Given the description of an element on the screen output the (x, y) to click on. 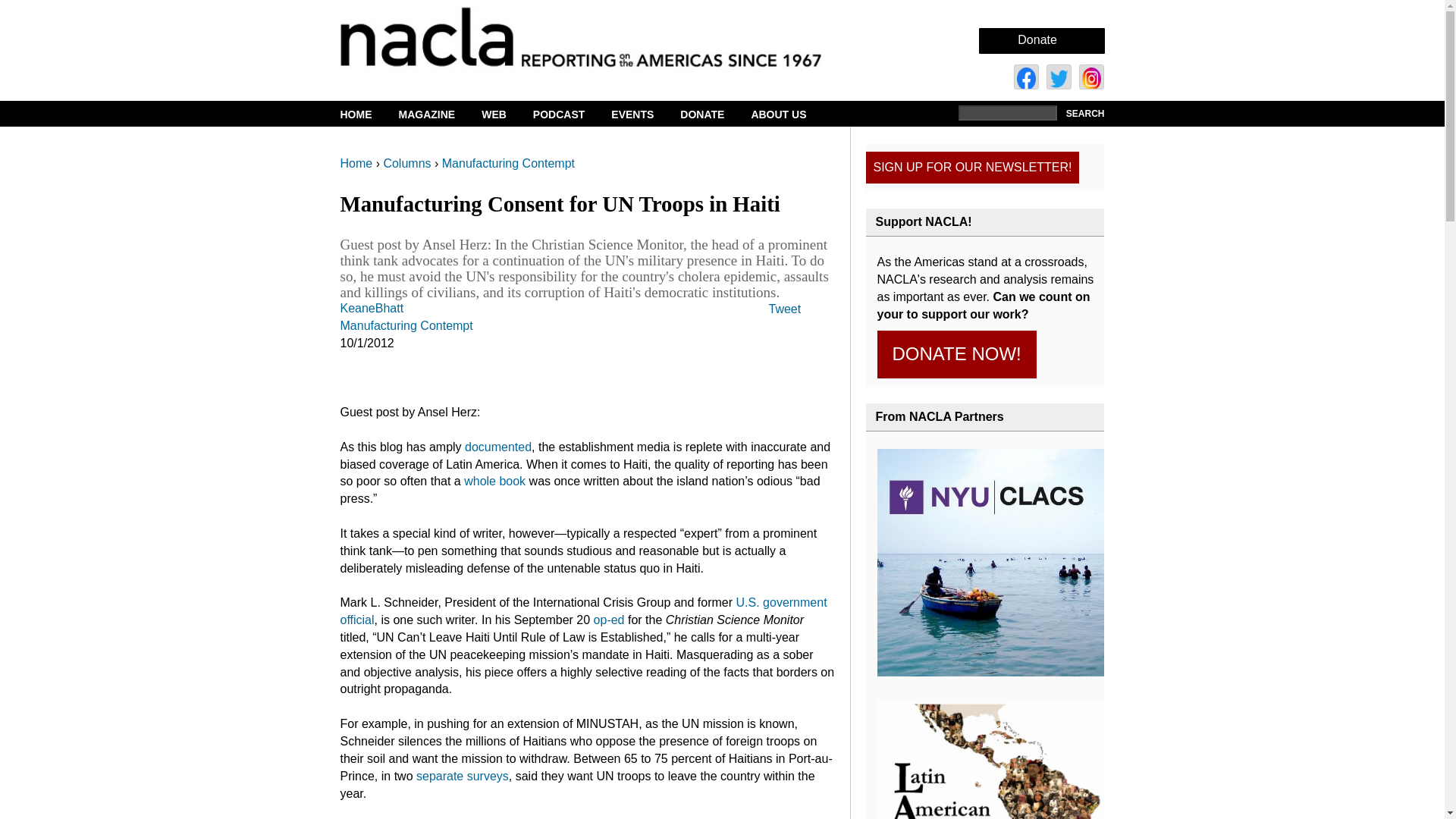
Search (1083, 113)
HOME (366, 114)
Donate (1037, 39)
Search (1083, 113)
DONATE (711, 114)
Home (607, 36)
